Given the description of an element on the screen output the (x, y) to click on. 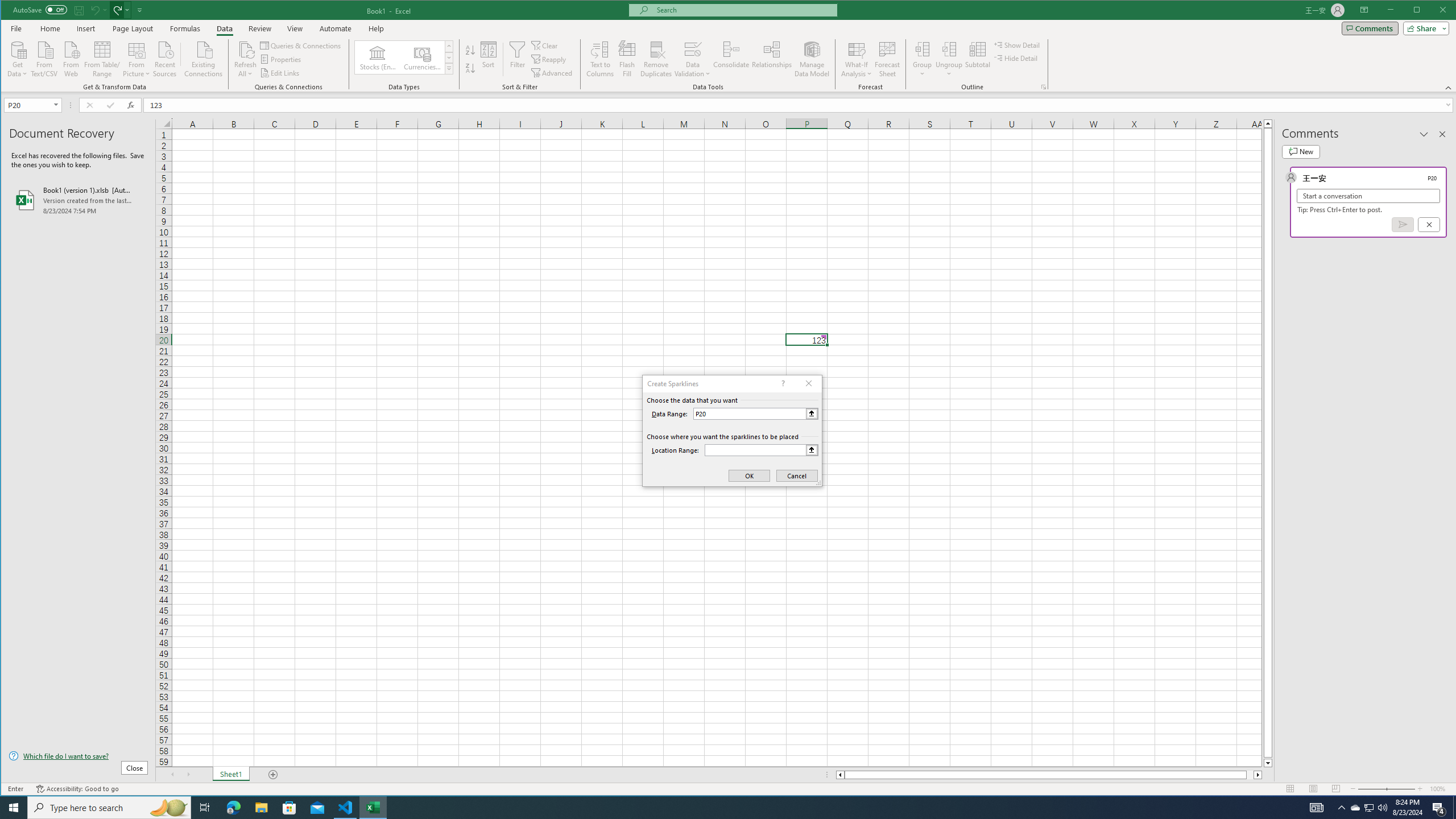
Maximize (1432, 11)
Start a conversation (1368, 195)
Data Types (448, 68)
Page right (1249, 774)
Clear (545, 45)
From Web (70, 57)
From Picture (136, 57)
Relationships (772, 59)
Stocks (English) (377, 57)
Sort... (488, 59)
What-If Analysis (856, 59)
